Given the description of an element on the screen output the (x, y) to click on. 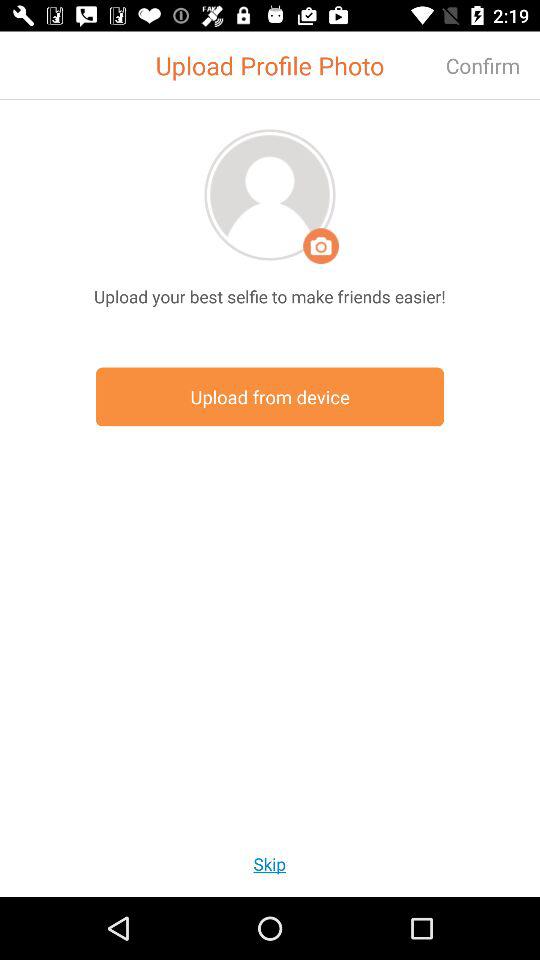
launch the upload your best item (269, 296)
